Given the description of an element on the screen output the (x, y) to click on. 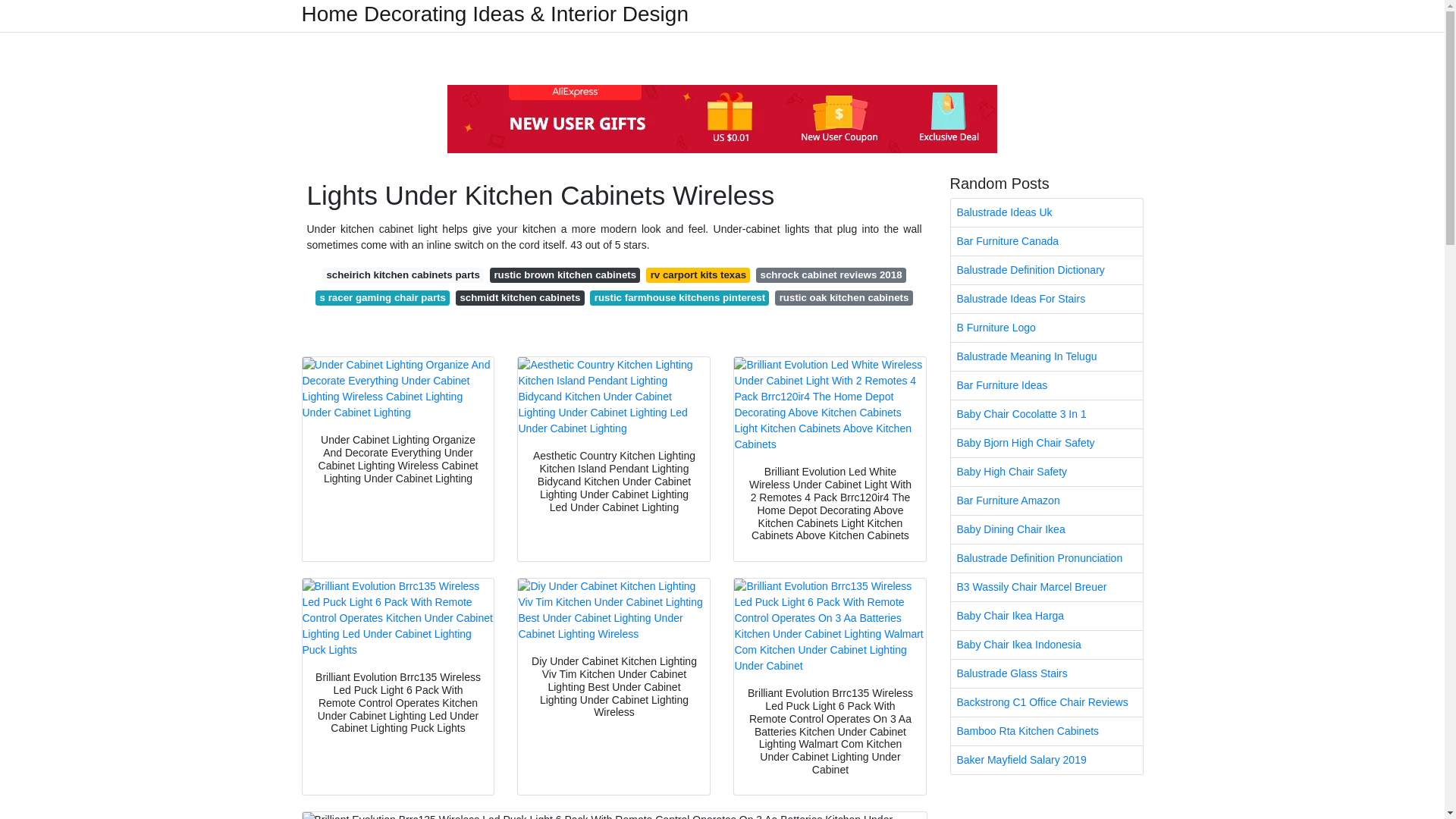
rustic farmhouse kitchens pinterest (678, 297)
rustic brown kitchen cabinets (564, 274)
Balustrade Ideas Uk (1046, 212)
Balustrade Definition Dictionary (1046, 270)
Baby Bjorn High Chair Safety (1046, 443)
Bar Furniture Ideas (1046, 385)
scheirich kitchen cabinets parts (402, 274)
B Furniture Logo (1046, 327)
Baby Chair Cocolatte 3 In 1 (1046, 414)
rustic oak kitchen cabinets (843, 297)
